Given the description of an element on the screen output the (x, y) to click on. 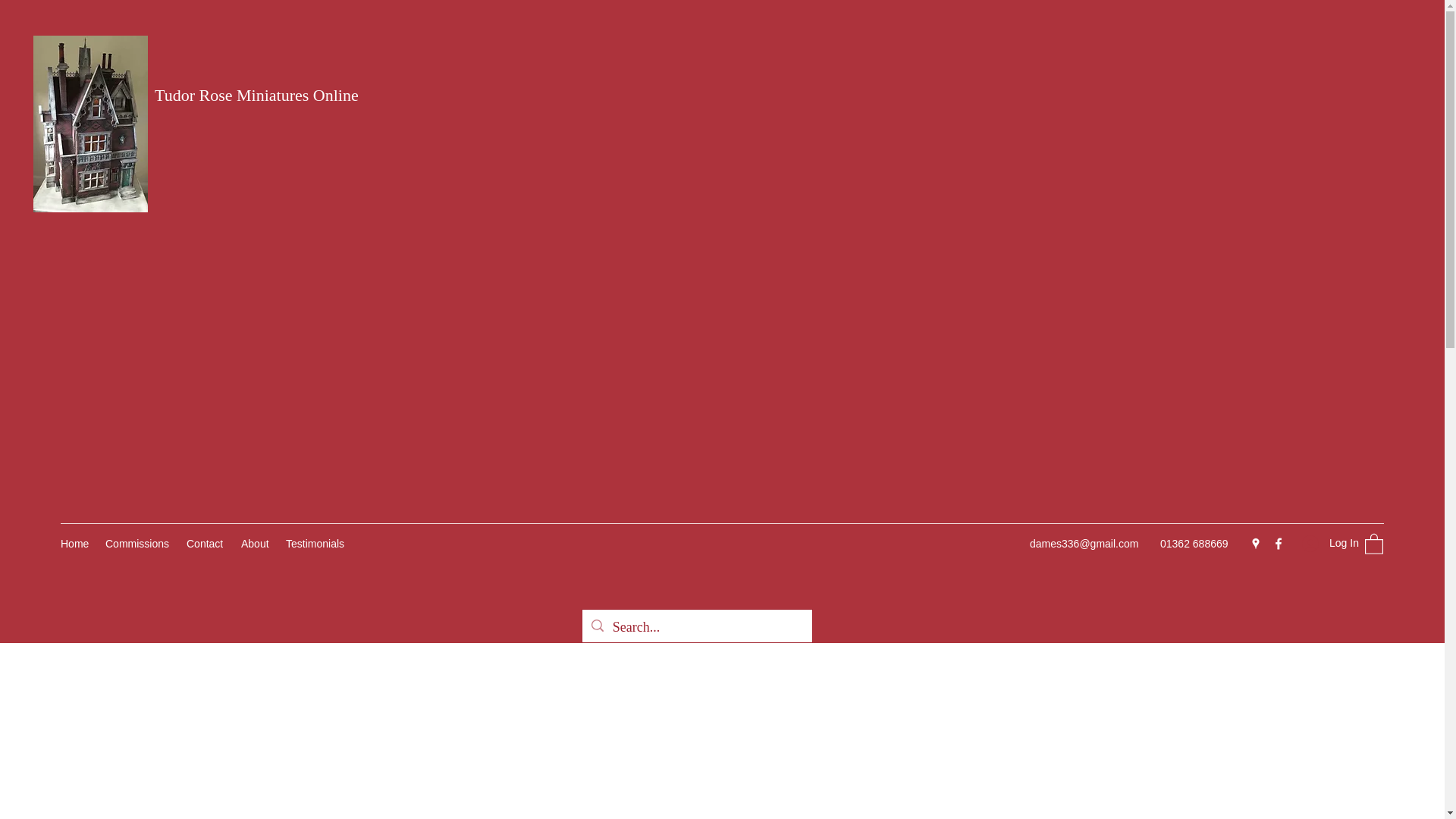
Contact (205, 543)
Home (74, 543)
Log In (1325, 543)
Tudor Rose Miniatures Online (256, 94)
About (255, 543)
Commissions (138, 543)
Testimonials (316, 543)
